Given the description of an element on the screen output the (x, y) to click on. 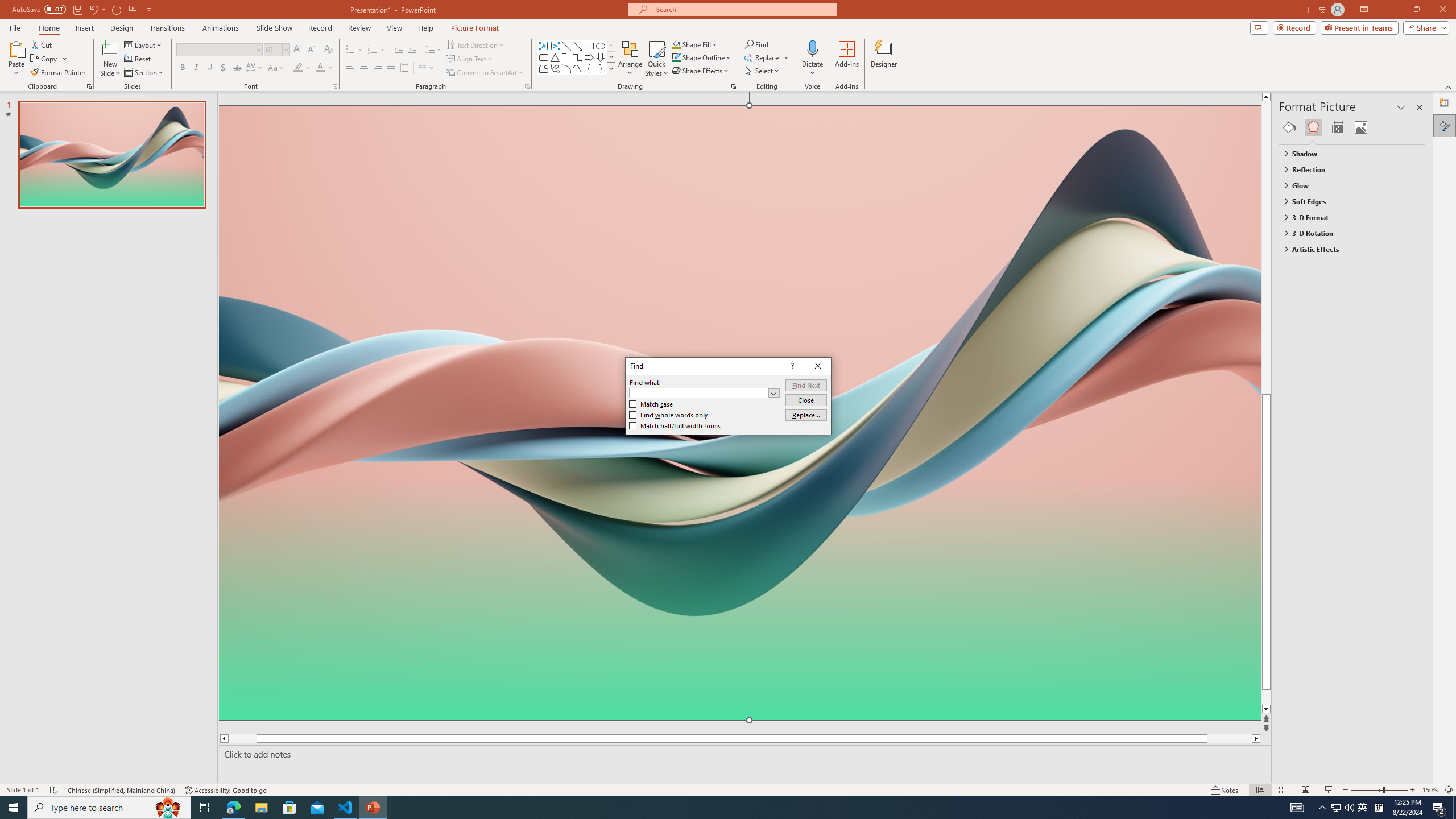
Normal (1260, 790)
Paste (16, 48)
Character Spacing (254, 67)
Connector: Elbow Arrow (577, 57)
AutomationID: ShapesInsertGallery (576, 57)
Type here to search (108, 807)
Connector: Elbow (566, 57)
Page down (1287, 696)
Row up (611, 45)
Find what (704, 393)
Restore Down (1416, 9)
From Beginning (133, 9)
Notification Chevron (1322, 807)
Convert to SmartArt (485, 72)
